Given the description of an element on the screen output the (x, y) to click on. 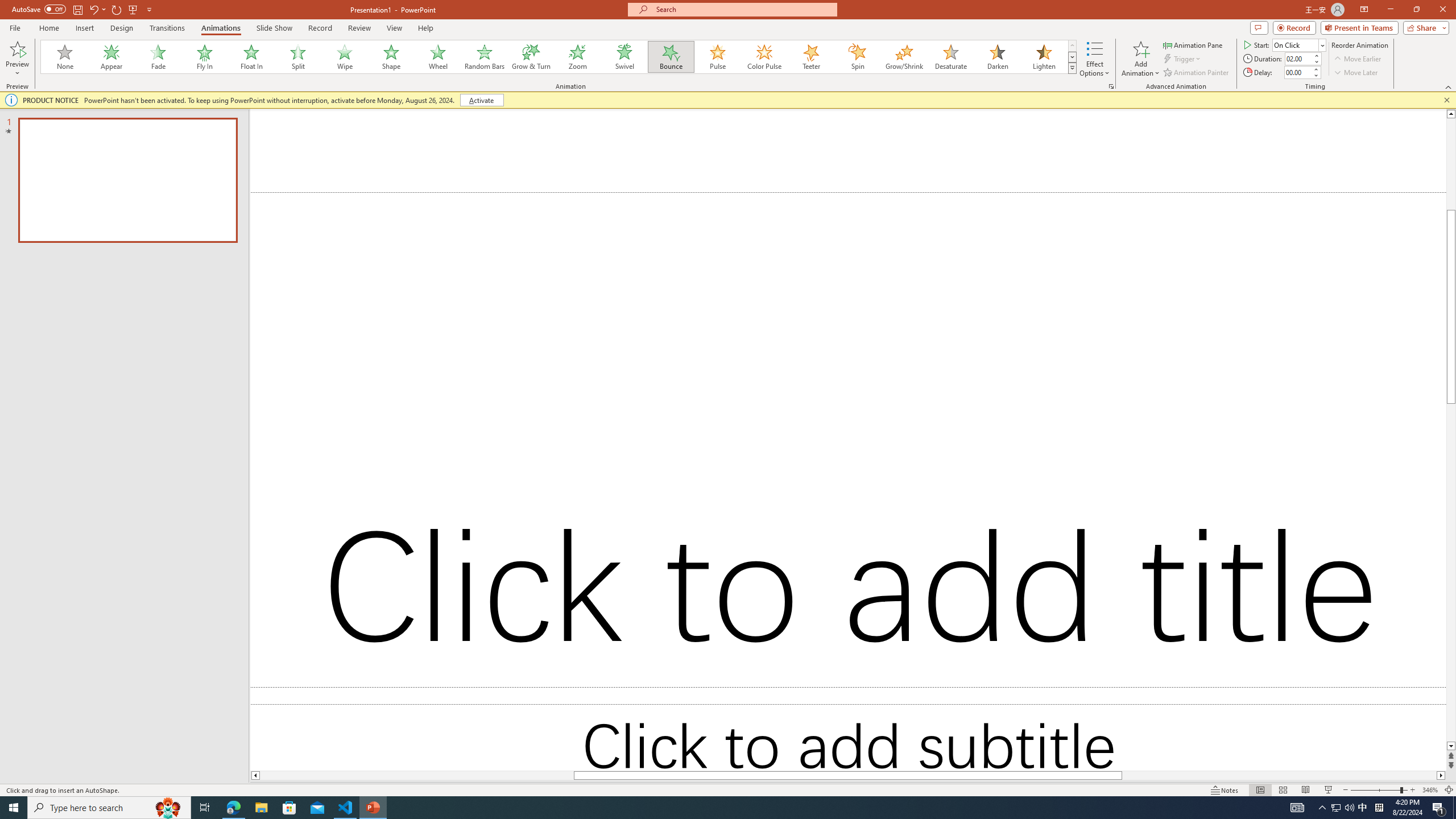
More Options (17, 68)
Notes  (1225, 790)
Minimize (1390, 9)
Quick Access Toolbar (82, 9)
Row Down (1071, 56)
Zoom (577, 56)
Record (1294, 27)
Split (298, 56)
Trigger (1182, 58)
Grow/Shrink (903, 56)
Zoom In (1412, 790)
Teeter (810, 56)
More (1315, 69)
Start (1299, 44)
Animation Duration (1298, 58)
